Given the description of an element on the screen output the (x, y) to click on. 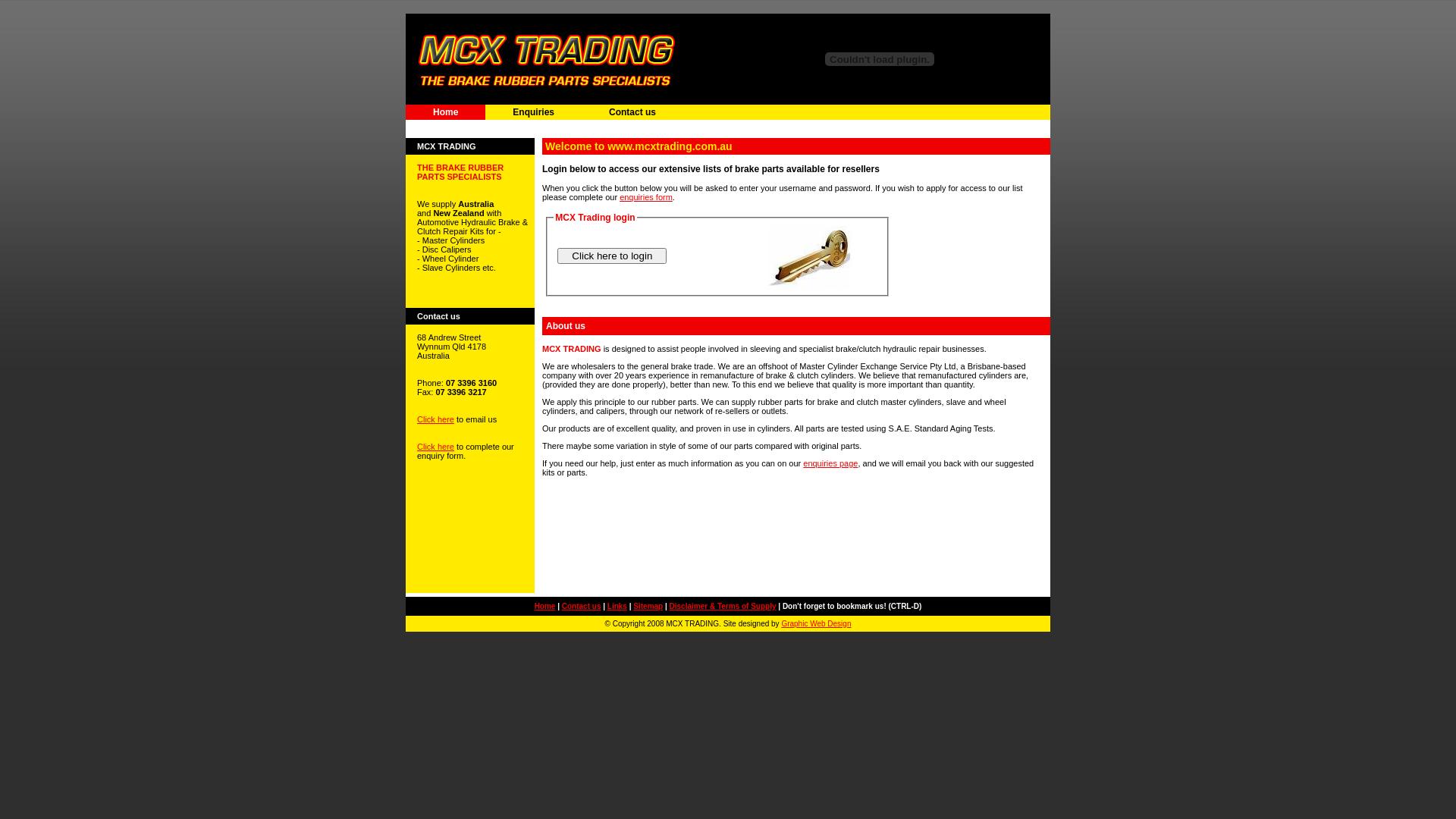
Disclaimer & Terms of Supply Element type: text (722, 606)
Click here Element type: text (435, 418)
Contact us Element type: text (632, 111)
Links Element type: text (617, 606)
enquiries form Element type: text (645, 196)
Enquiries Element type: text (533, 111)
Graphic Web Design Element type: text (815, 623)
Home Element type: text (445, 111)
Click here Element type: text (435, 446)
   Click here to login    Element type: text (611, 255)
Home Element type: text (544, 606)
enquiries page Element type: text (830, 462)
Contact us Element type: text (581, 606)
Sitemap Element type: text (647, 606)
